Given the description of an element on the screen output the (x, y) to click on. 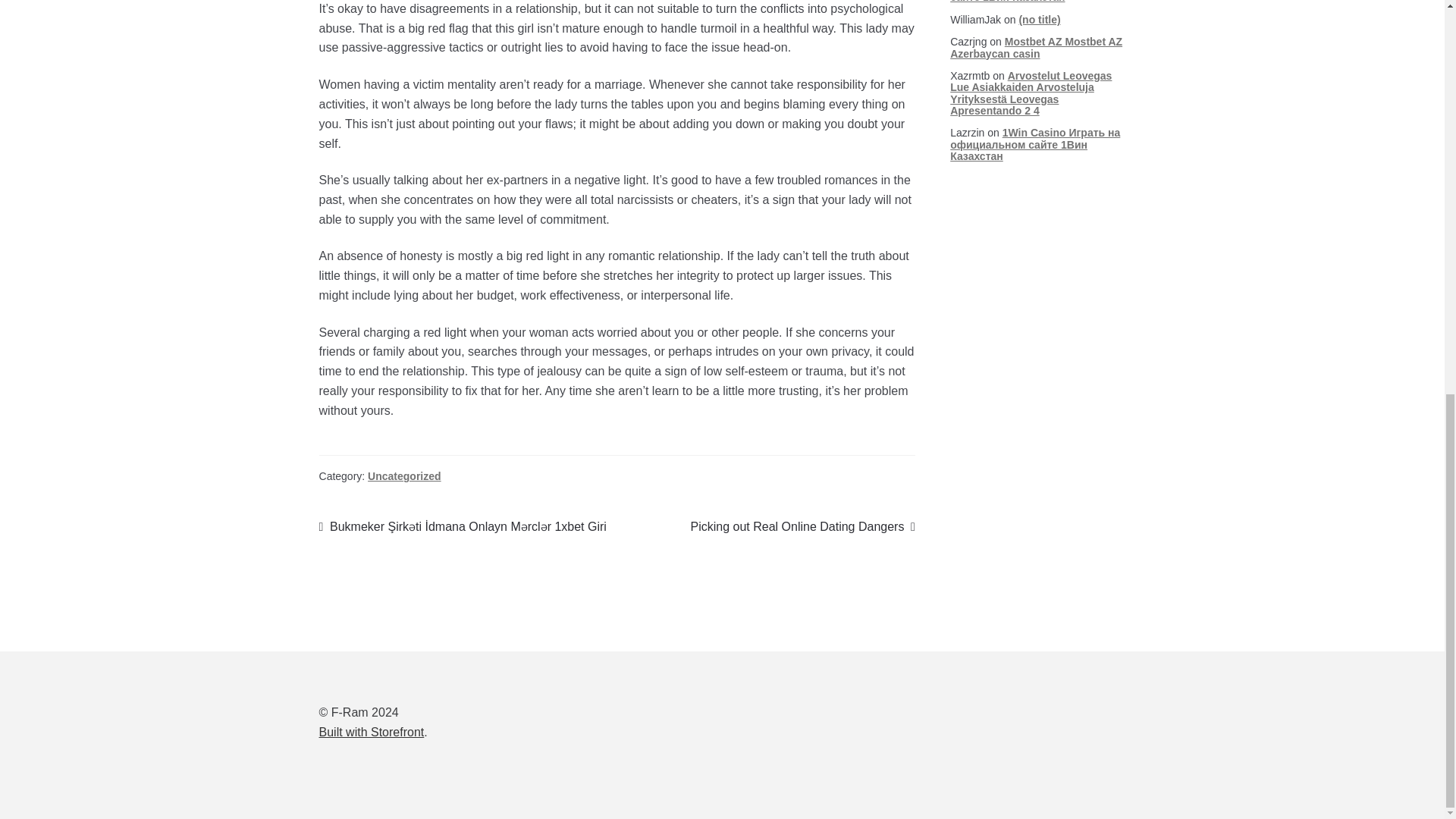
Mostbet AZ Mostbet AZ Azerbaycan casin (1036, 47)
Built with Storefront (802, 526)
Uncategorized (371, 731)
